Given the description of an element on the screen output the (x, y) to click on. 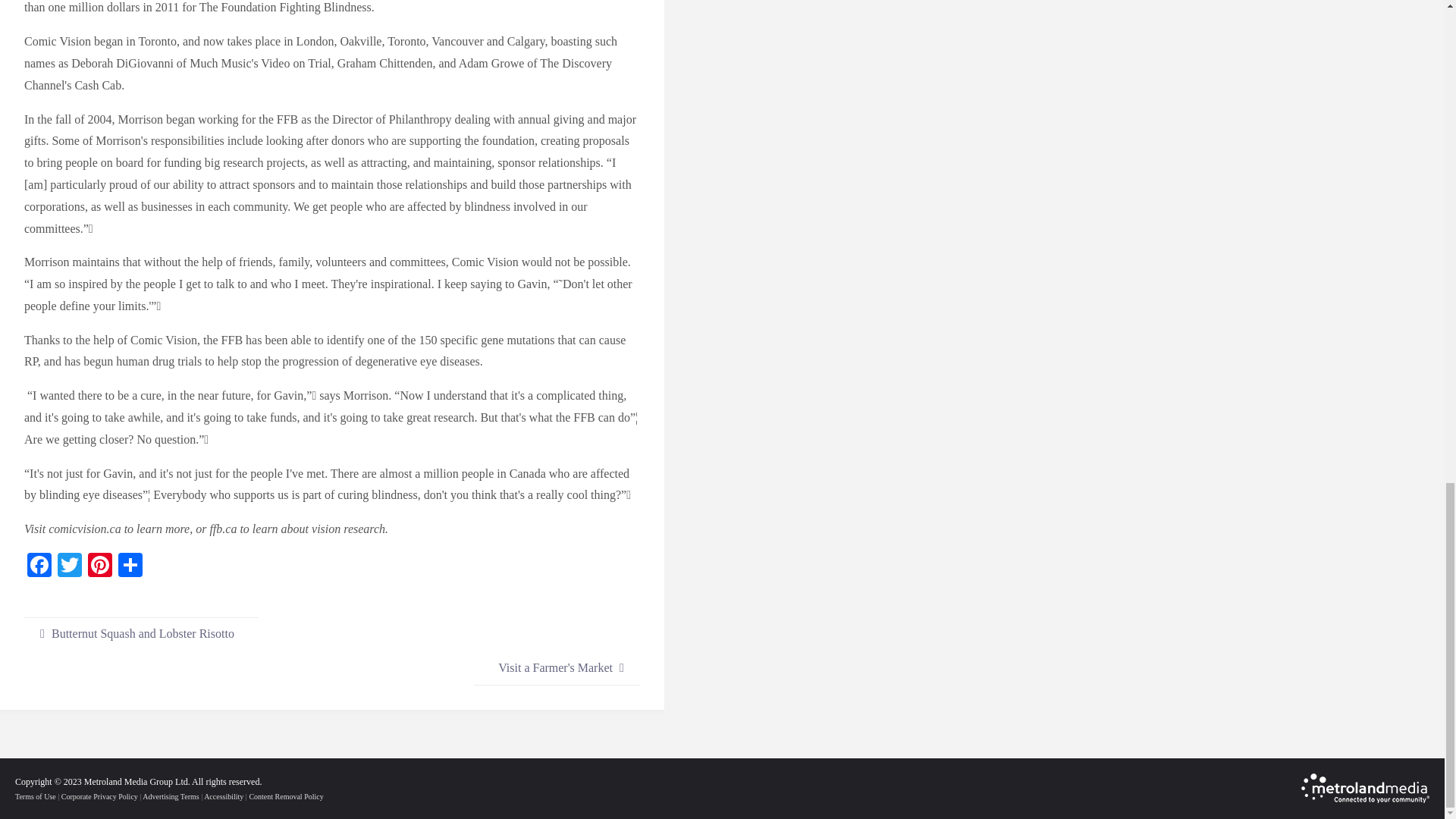
Share (130, 566)
Facebook (39, 566)
Pinterest (99, 566)
Butternut Squash and Lobster Risotto (141, 634)
Twitter (69, 566)
Pinterest (99, 566)
Visit a Farmer's Market (557, 668)
Facebook (39, 566)
Twitter (69, 566)
